Given the description of an element on the screen output the (x, y) to click on. 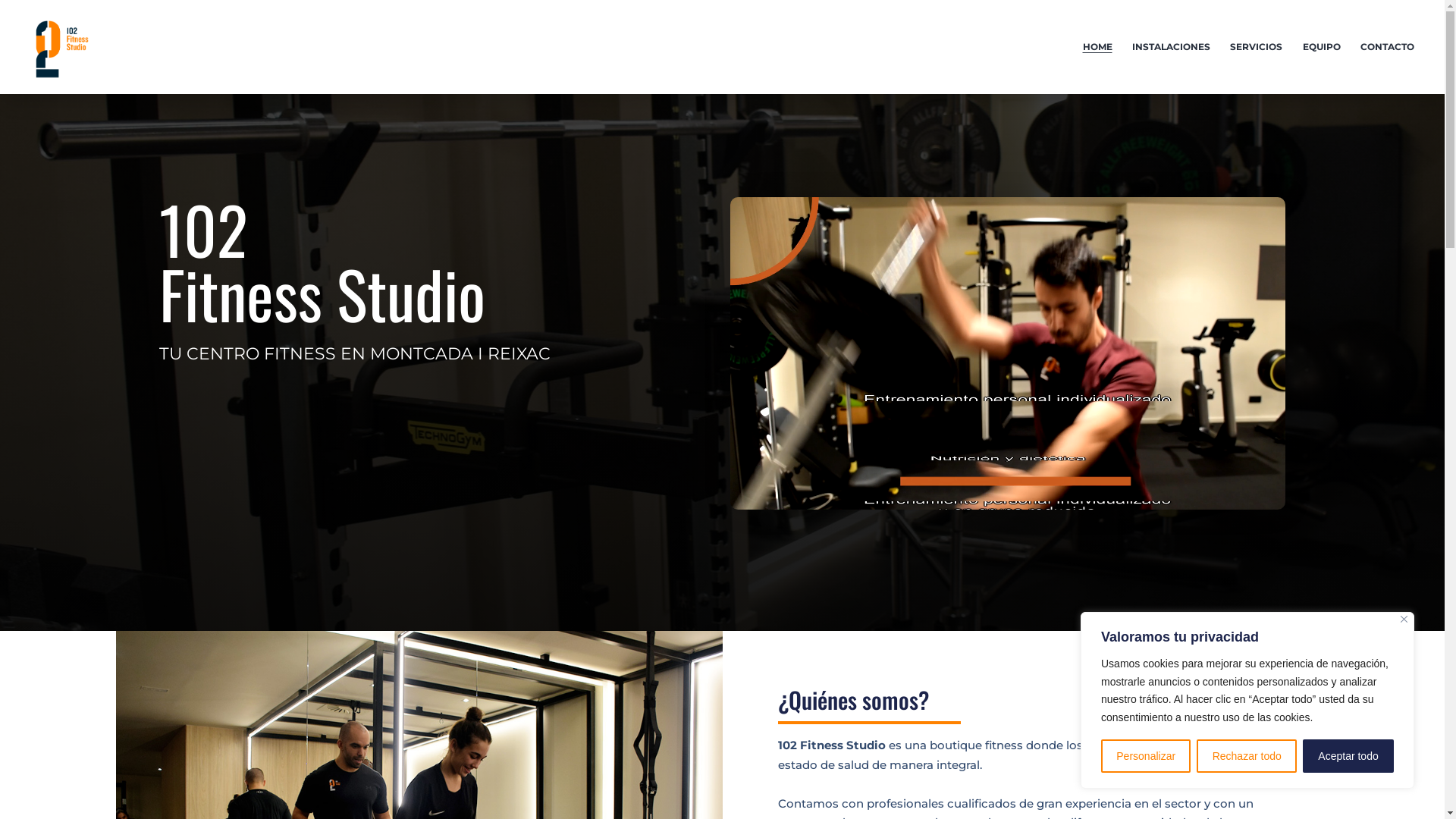
HOME Element type: text (1096, 46)
SERVICIOS Element type: text (1256, 46)
CONTACTO Element type: text (1387, 46)
EQUIPO Element type: text (1320, 46)
INSTALACIONES Element type: text (1171, 46)
Personalizar Element type: text (1145, 755)
Rechazar todo Element type: text (1246, 755)
Aceptar todo Element type: text (1347, 755)
